Given the description of an element on the screen output the (x, y) to click on. 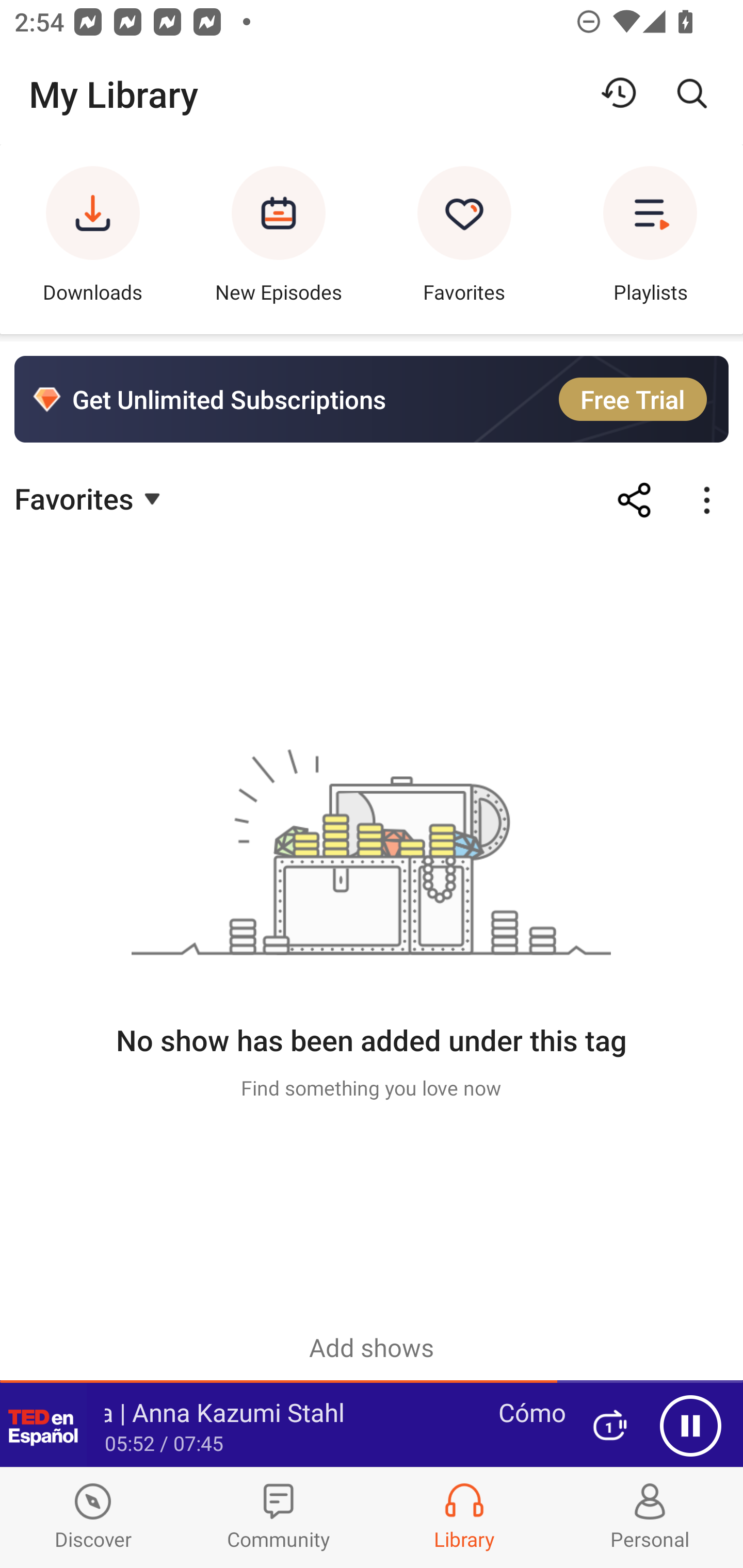
Downloads (92, 238)
New Episodes (278, 238)
Favorites (464, 238)
Playlists (650, 238)
Get Unlimited Subscriptions Free Trial (371, 398)
Free Trial (632, 398)
Favorites (90, 497)
Add shows (371, 1346)
Pause (690, 1425)
Discover (92, 1517)
Community (278, 1517)
Library (464, 1517)
Profiles and Settings Personal (650, 1517)
